Given the description of an element on the screen output the (x, y) to click on. 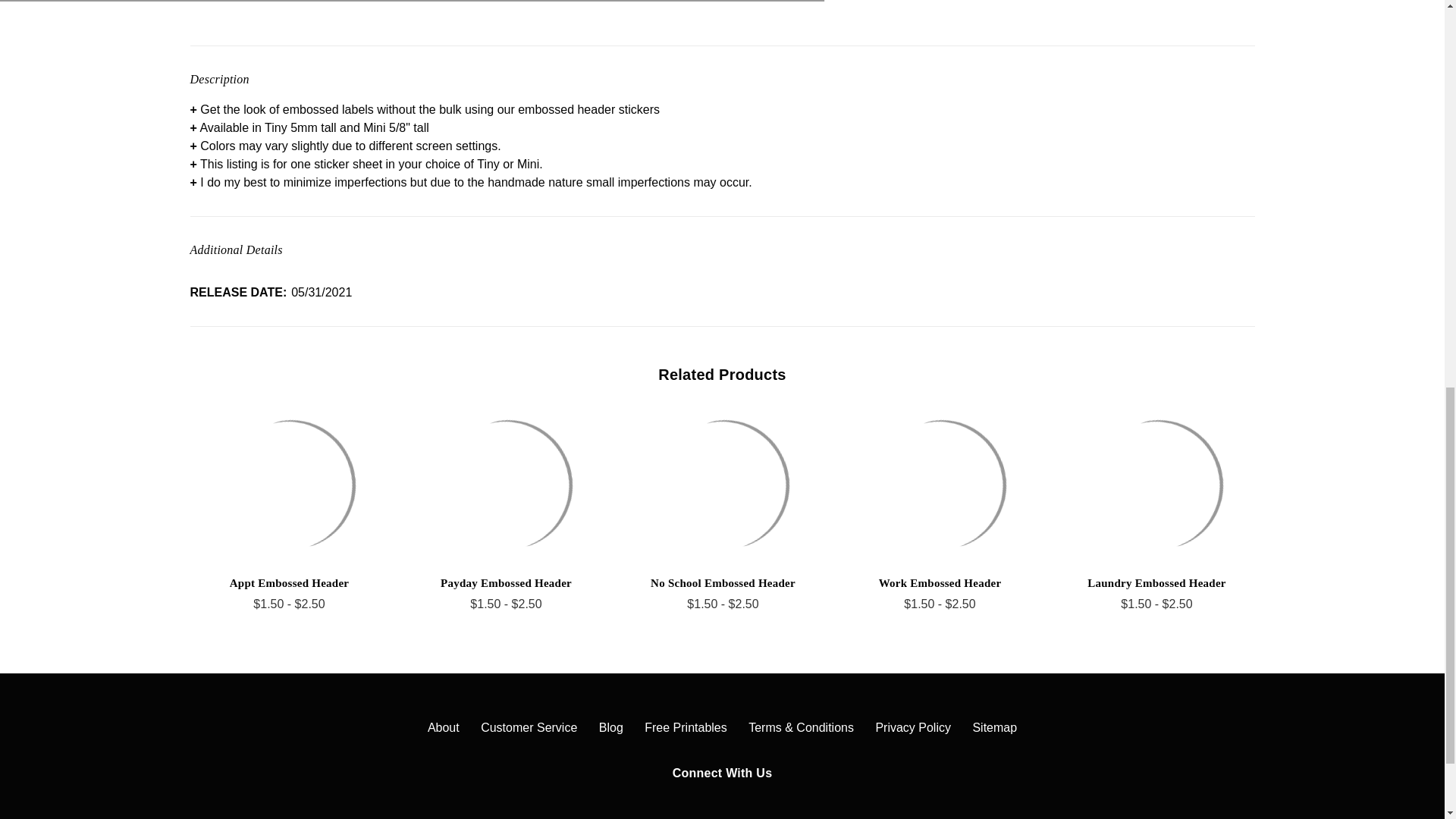
No School embossed planner stickers (723, 484)
Payday embossed planner stickers (506, 484)
Laundry embossed planner stickers (1157, 484)
Important embossed planner stickers (540, 4)
Appointment embossed planner stickers (289, 484)
Work Embossed Header (940, 484)
